Given the description of an element on the screen output the (x, y) to click on. 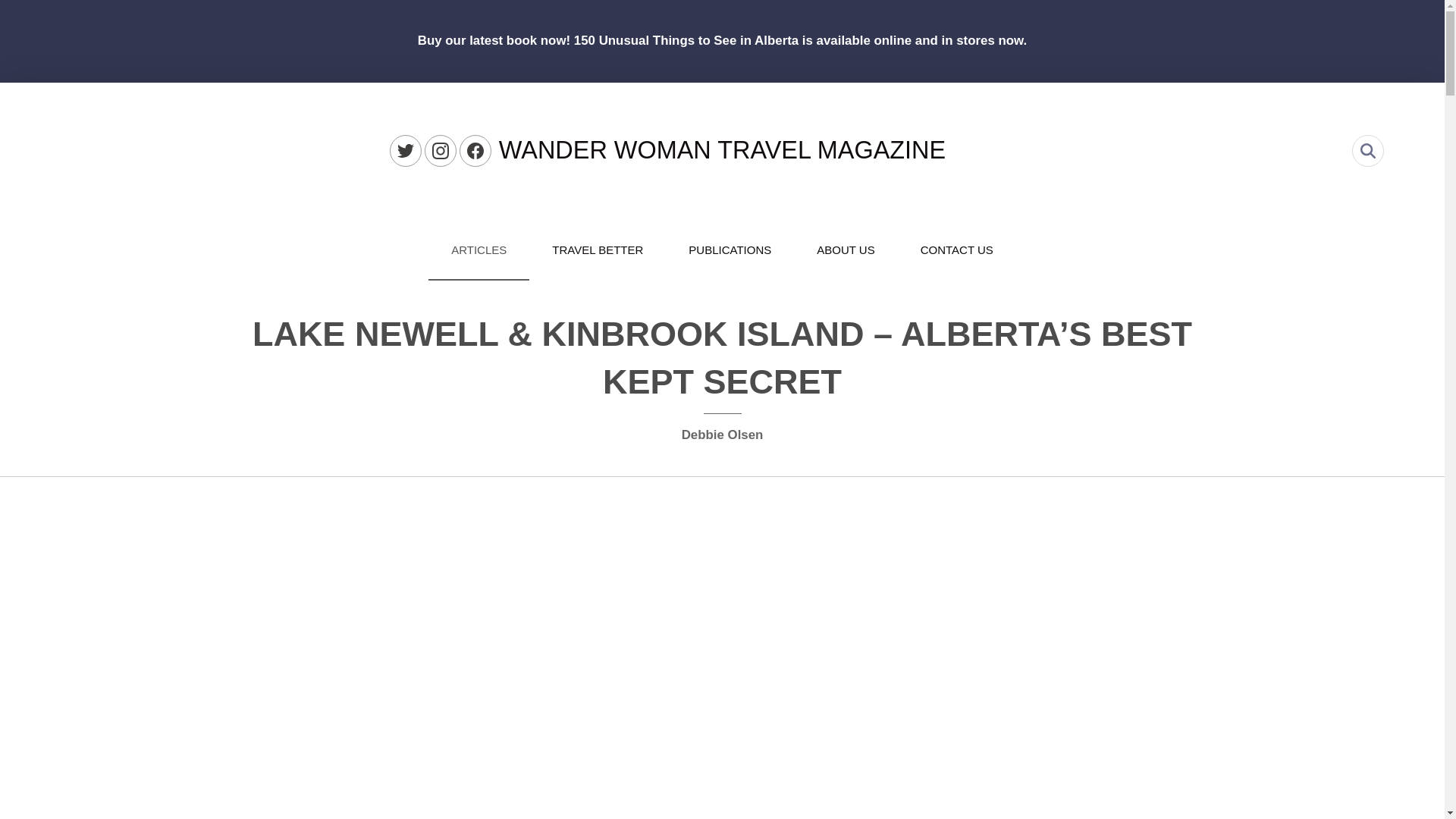
New Window (441, 151)
TRAVEL BETTER (597, 250)
CONTACT US (957, 250)
New Window (406, 151)
Facebook (476, 151)
PUBLICATIONS (729, 250)
ARTICLES (478, 250)
Instagram (441, 151)
WANDER WOMAN TRAVEL MAGAZINE (721, 150)
